Given the description of an element on the screen output the (x, y) to click on. 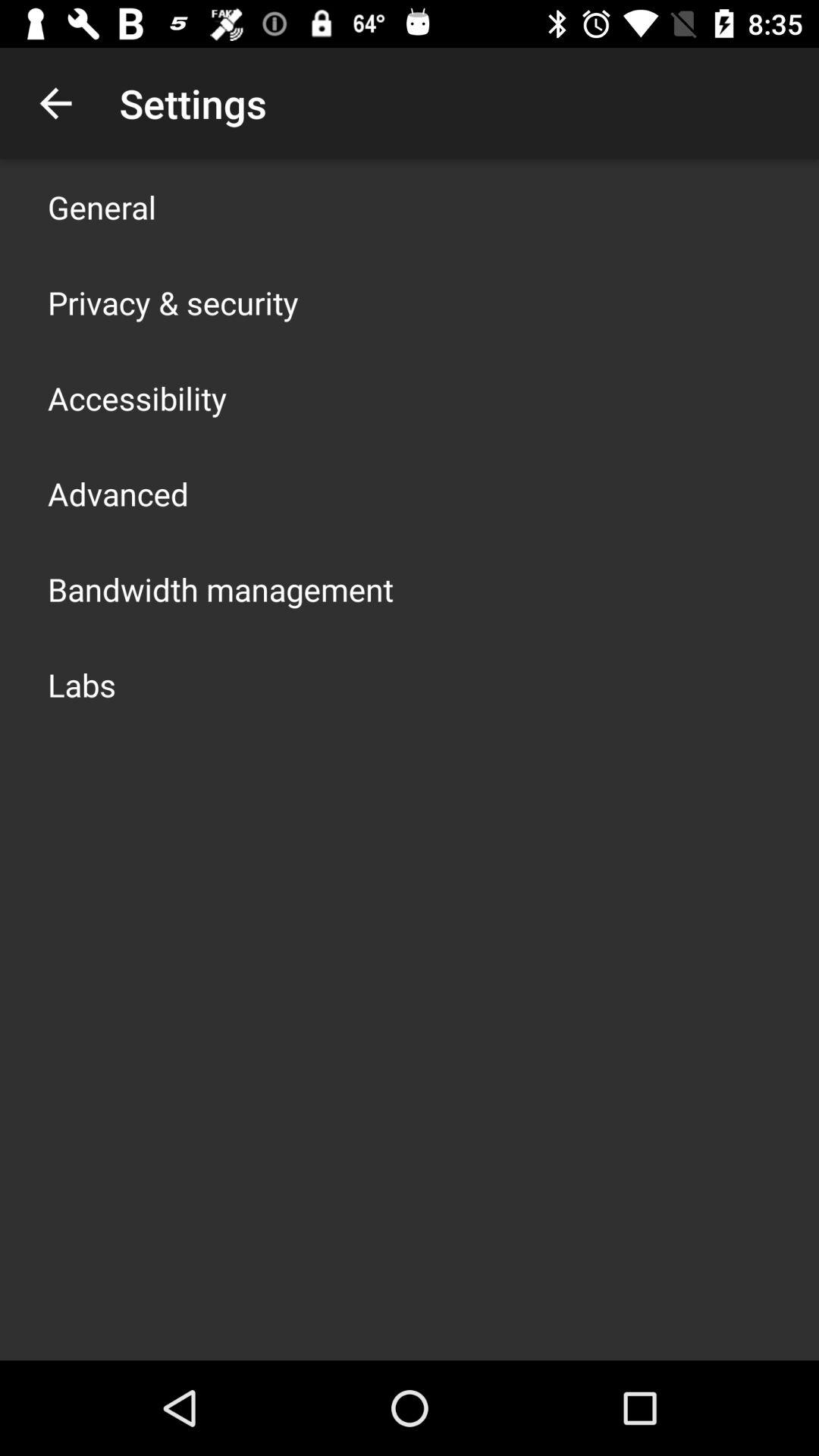
turn on the icon above advanced icon (136, 397)
